Given the description of an element on the screen output the (x, y) to click on. 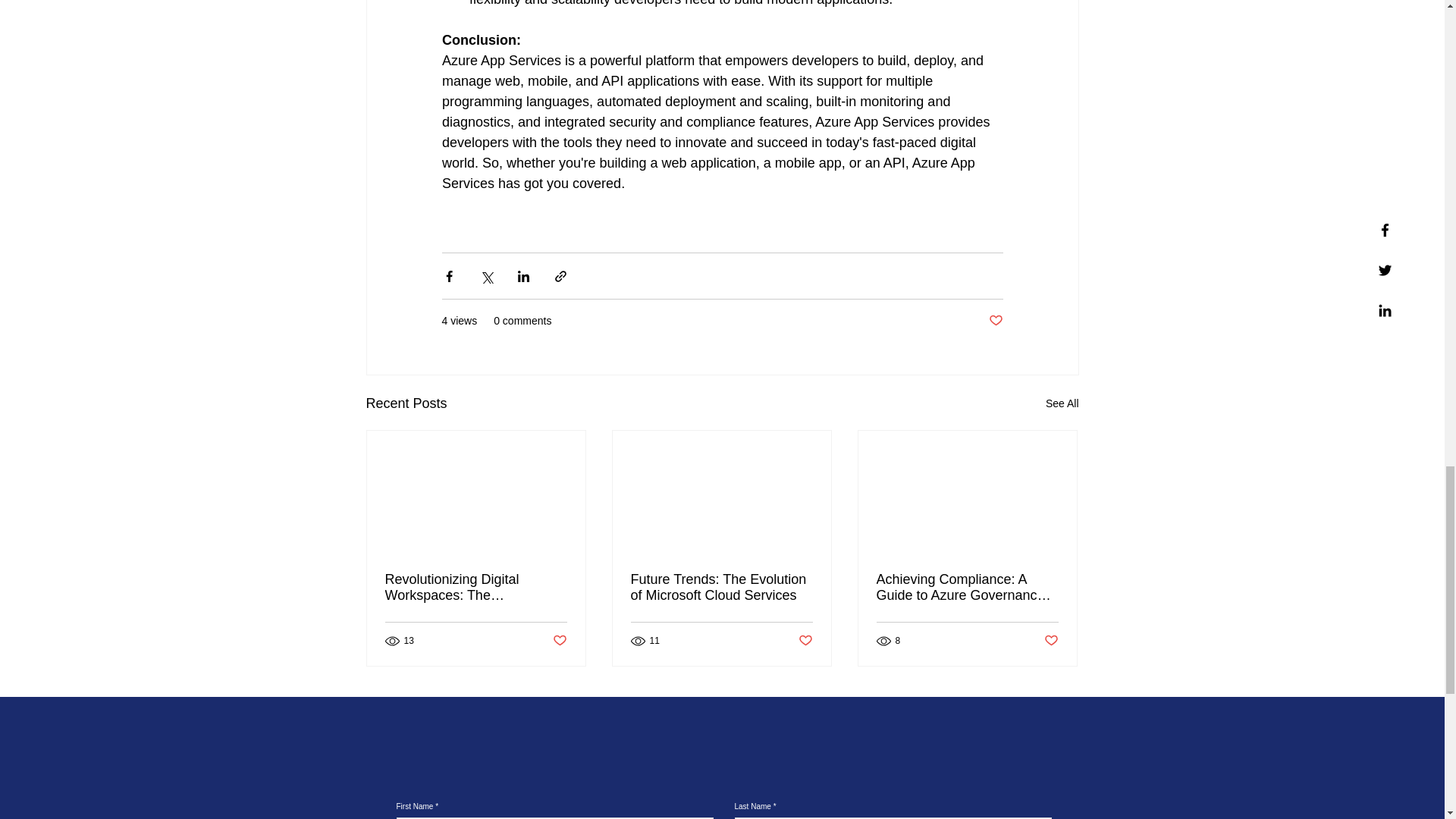
Post not marked as liked (995, 320)
Future Trends: The Evolution of Microsoft Cloud Services (721, 587)
Post not marked as liked (804, 640)
Post not marked as liked (1050, 640)
See All (1061, 403)
Post not marked as liked (558, 640)
